Given the description of an element on the screen output the (x, y) to click on. 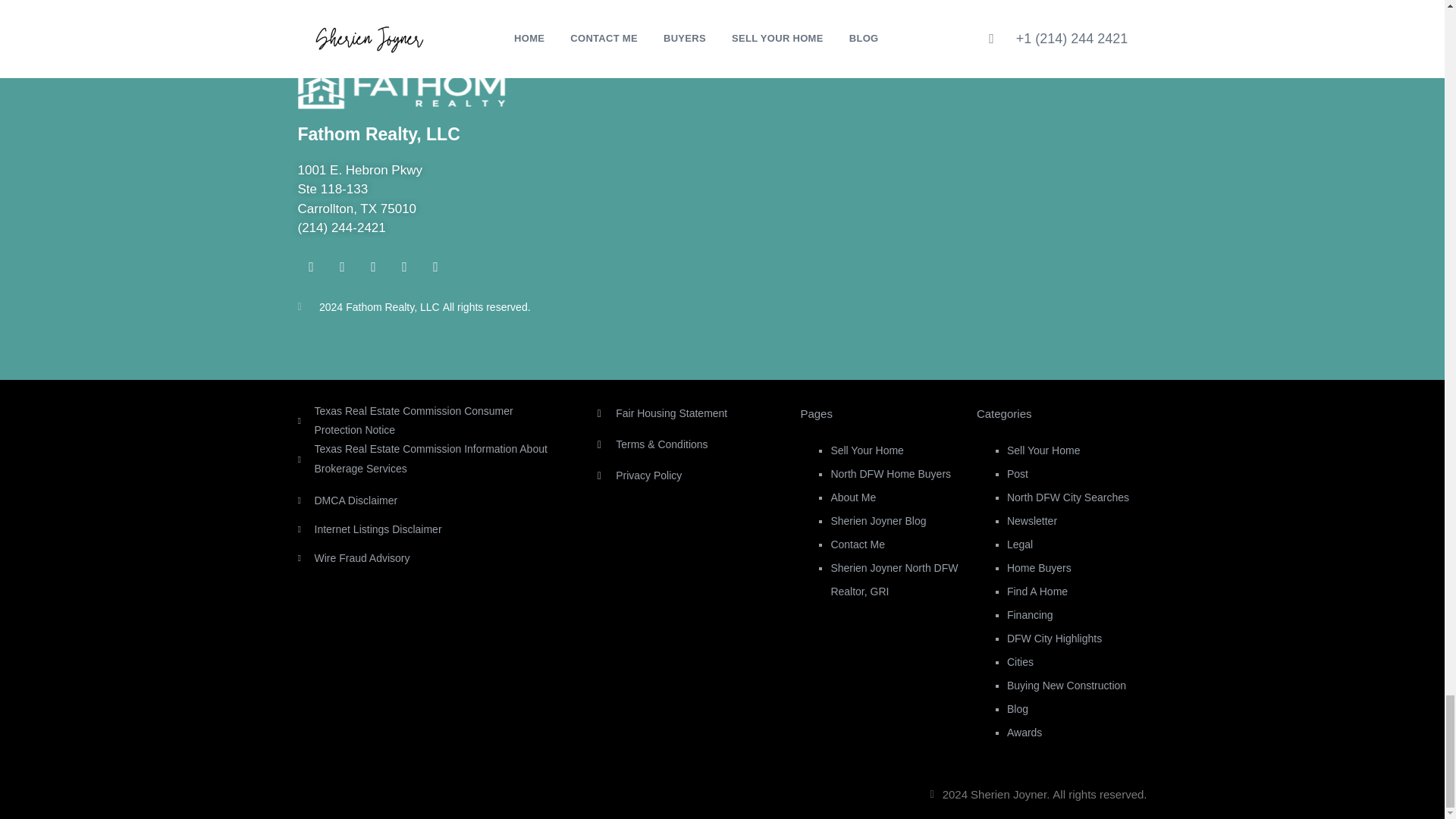
1001 E. Hebron Pkwy  Ste 118-133  Carrollton, TX 75010 (938, 193)
